Given the description of an element on the screen output the (x, y) to click on. 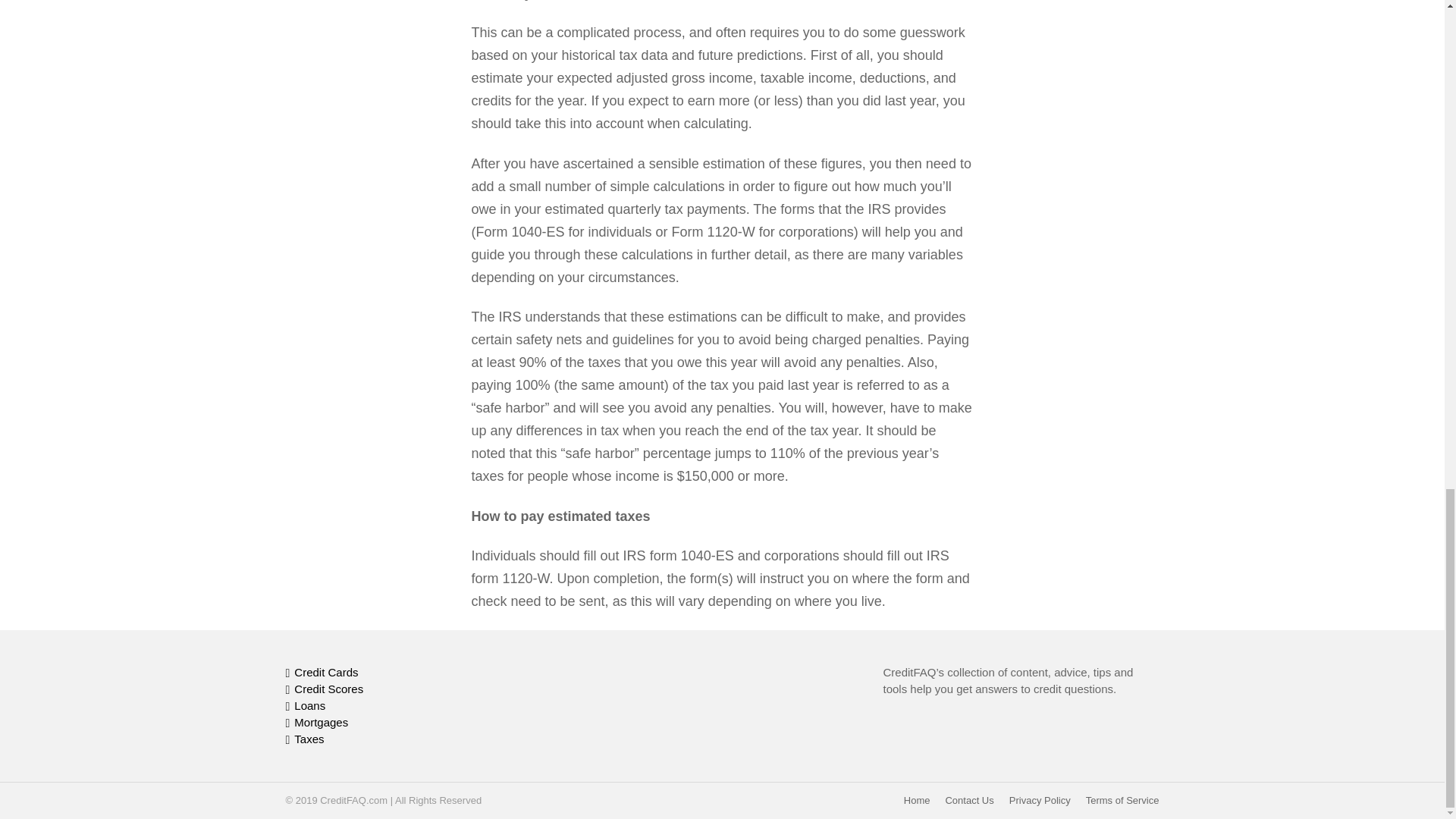
Credit Scores (422, 689)
Taxes (422, 739)
Mortgages (422, 723)
Home (916, 800)
Contact Us (969, 800)
Loans (422, 706)
Terms of Service (1122, 800)
Credit Cards (422, 672)
Privacy Policy (1039, 800)
